Given the description of an element on the screen output the (x, y) to click on. 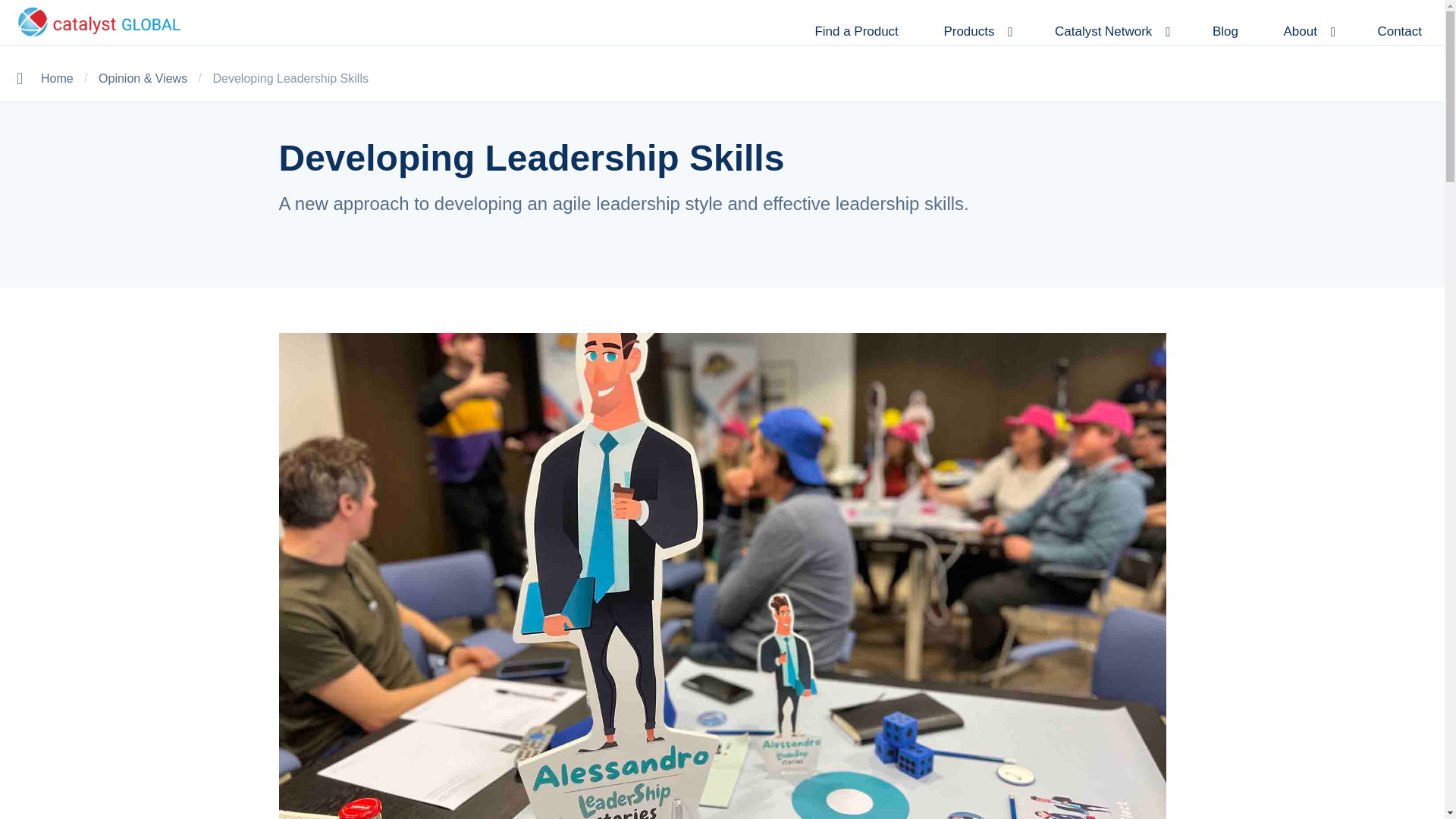
Contact (1399, 31)
About (1307, 31)
Home (57, 78)
Find a Product (855, 31)
Products (976, 31)
Catalyst Network (1110, 31)
Blog (1225, 31)
